Given the description of an element on the screen output the (x, y) to click on. 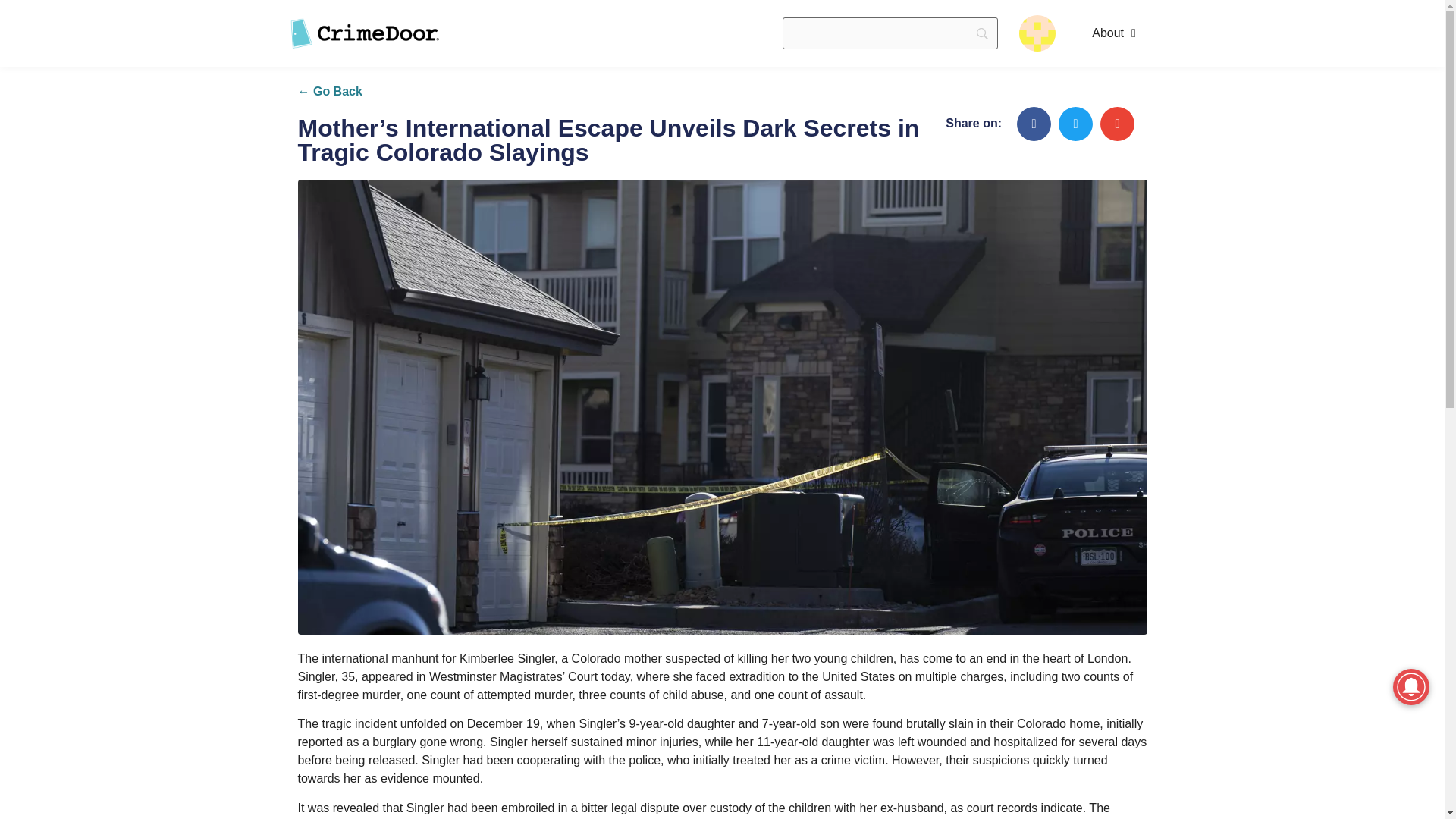
About (1113, 32)
